Given the description of an element on the screen output the (x, y) to click on. 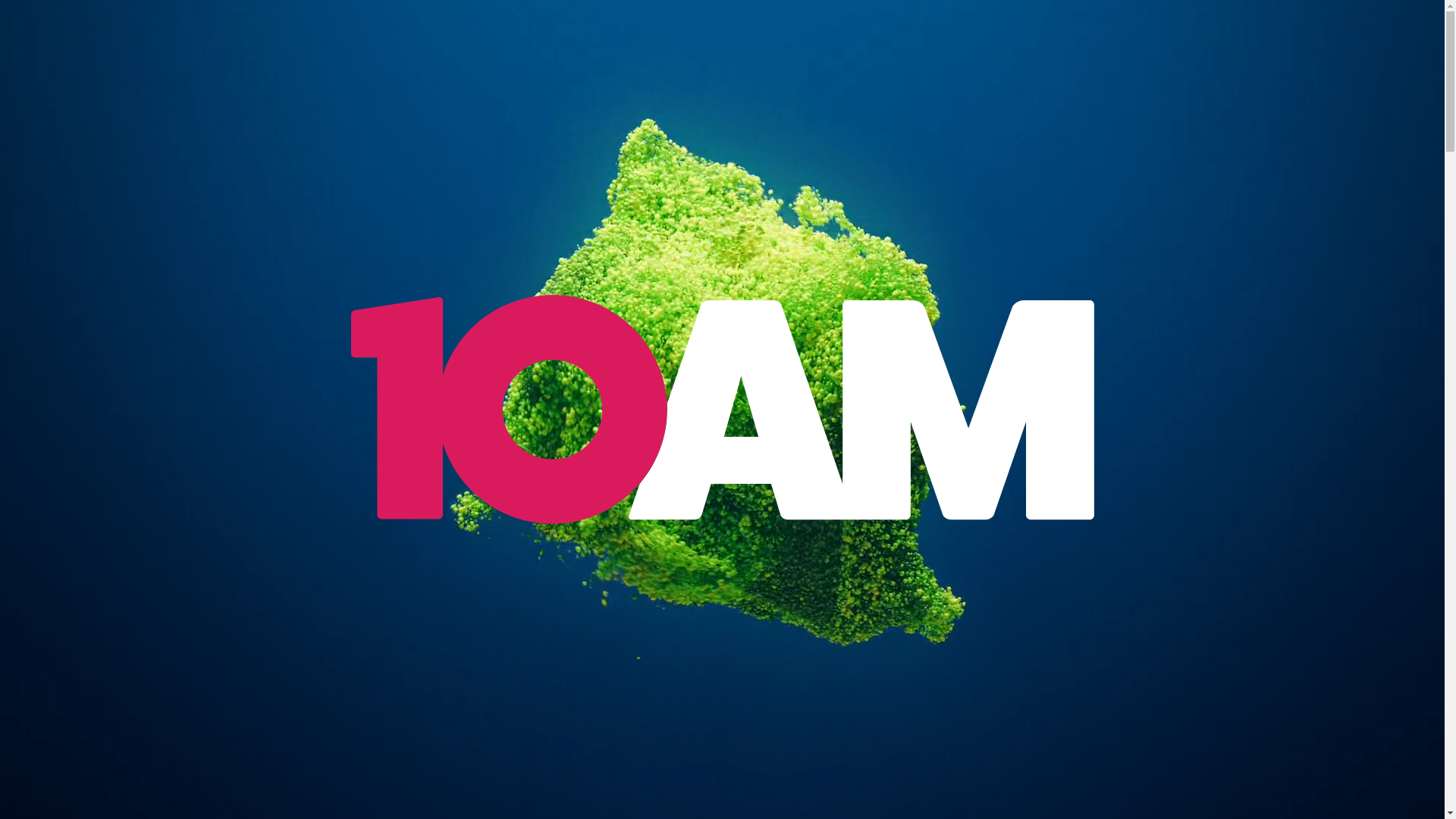
10am-Logo_Light Element type: hover (721, 409)
